Given the description of an element on the screen output the (x, y) to click on. 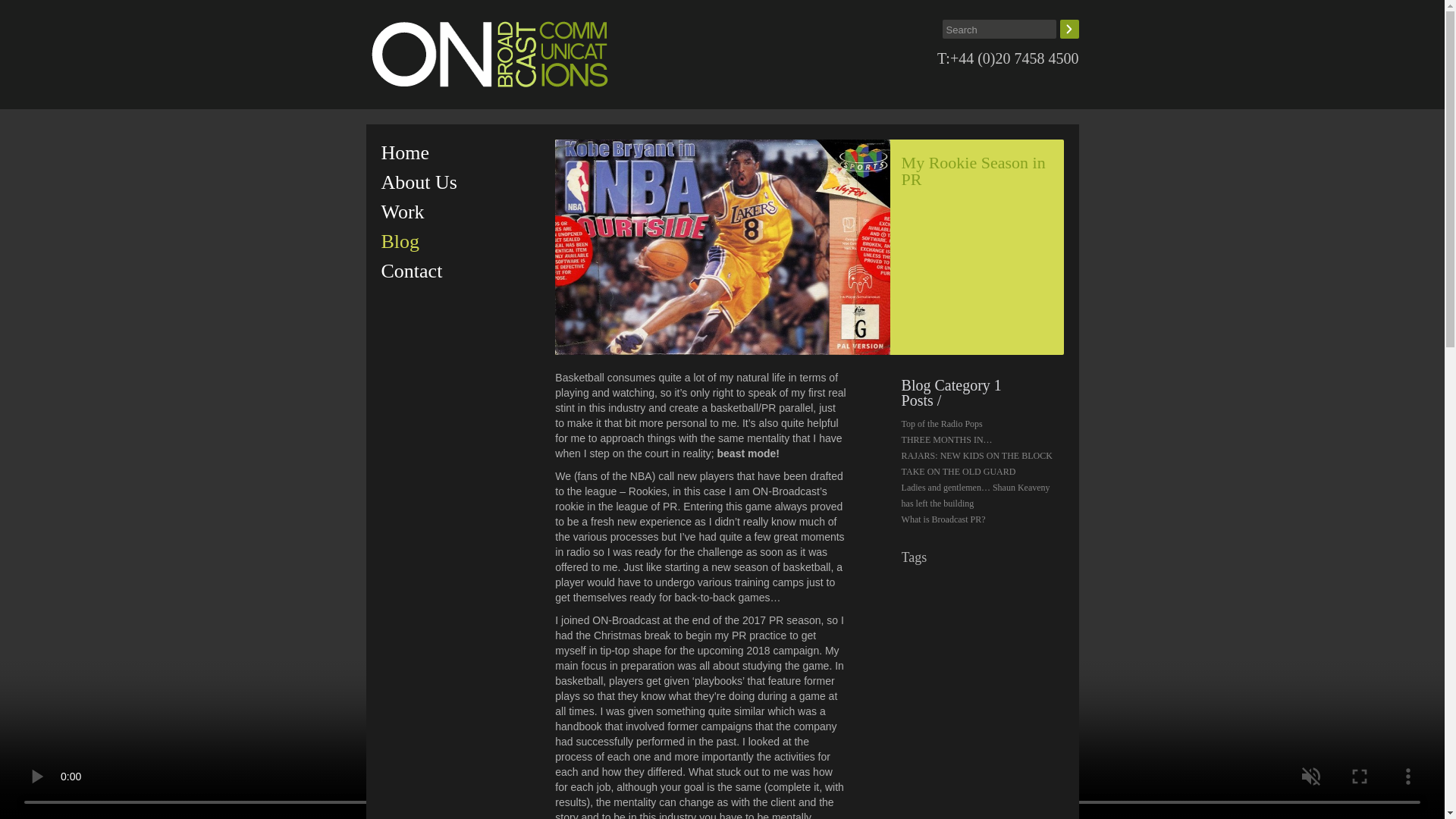
RAJARS: NEW KIDS ON THE BLOCK TAKE ON THE OLD GUARD (976, 463)
What is Broadcast PR? (943, 519)
Contact (460, 271)
Work (460, 212)
Blog (460, 241)
Search (1068, 28)
Home (460, 153)
About Us (460, 182)
ON (488, 54)
Top of the Radio Pops (941, 423)
